Given the description of an element on the screen output the (x, y) to click on. 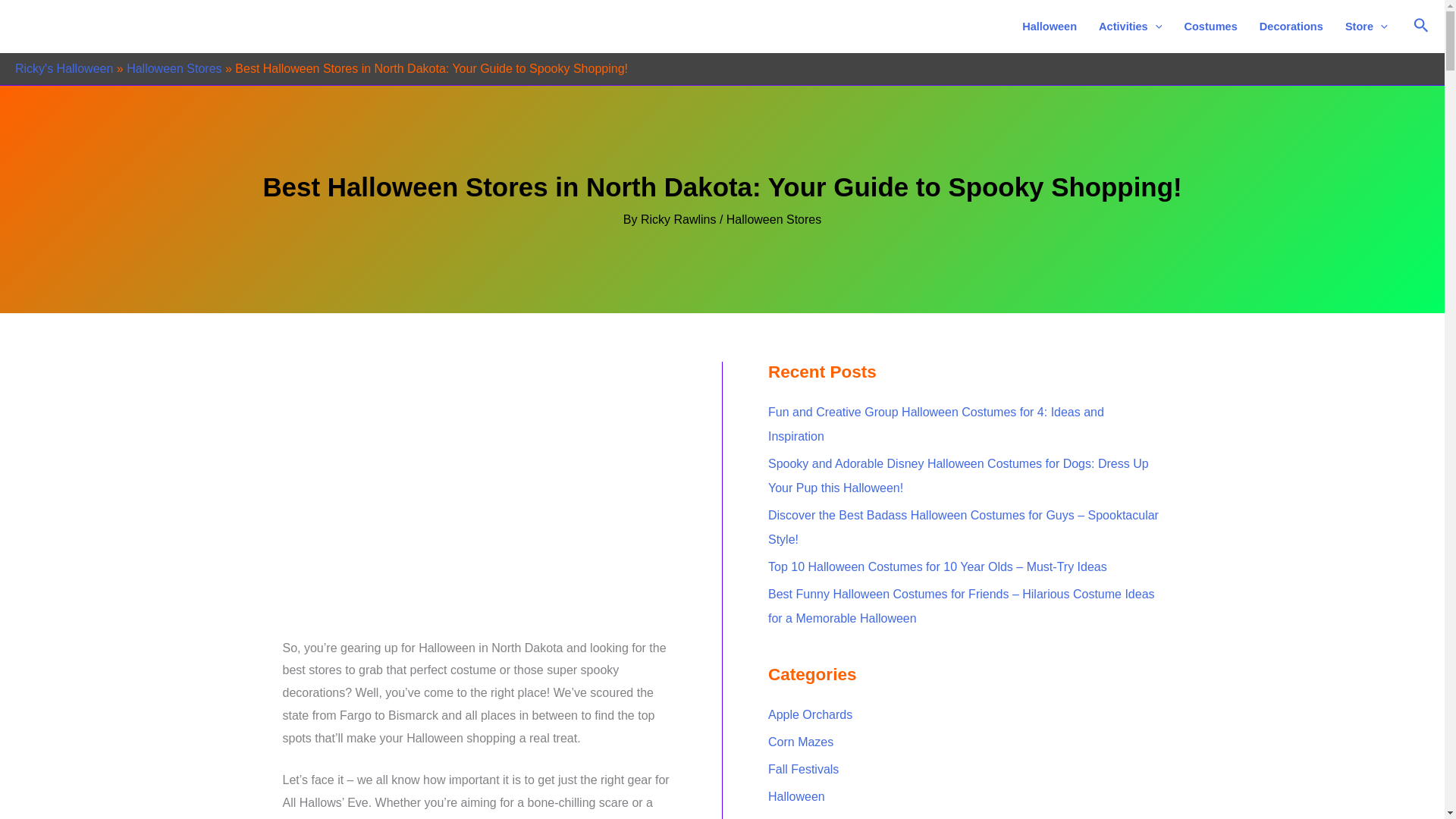
Decorations (1290, 26)
Halloween (1049, 26)
View all posts by Ricky Rawlins (679, 219)
Halloween Stores (173, 68)
Ricky's Halloween (63, 68)
Activities (1130, 26)
Costumes (1210, 26)
Search (1421, 26)
Store (1365, 26)
